Given the description of an element on the screen output the (x, y) to click on. 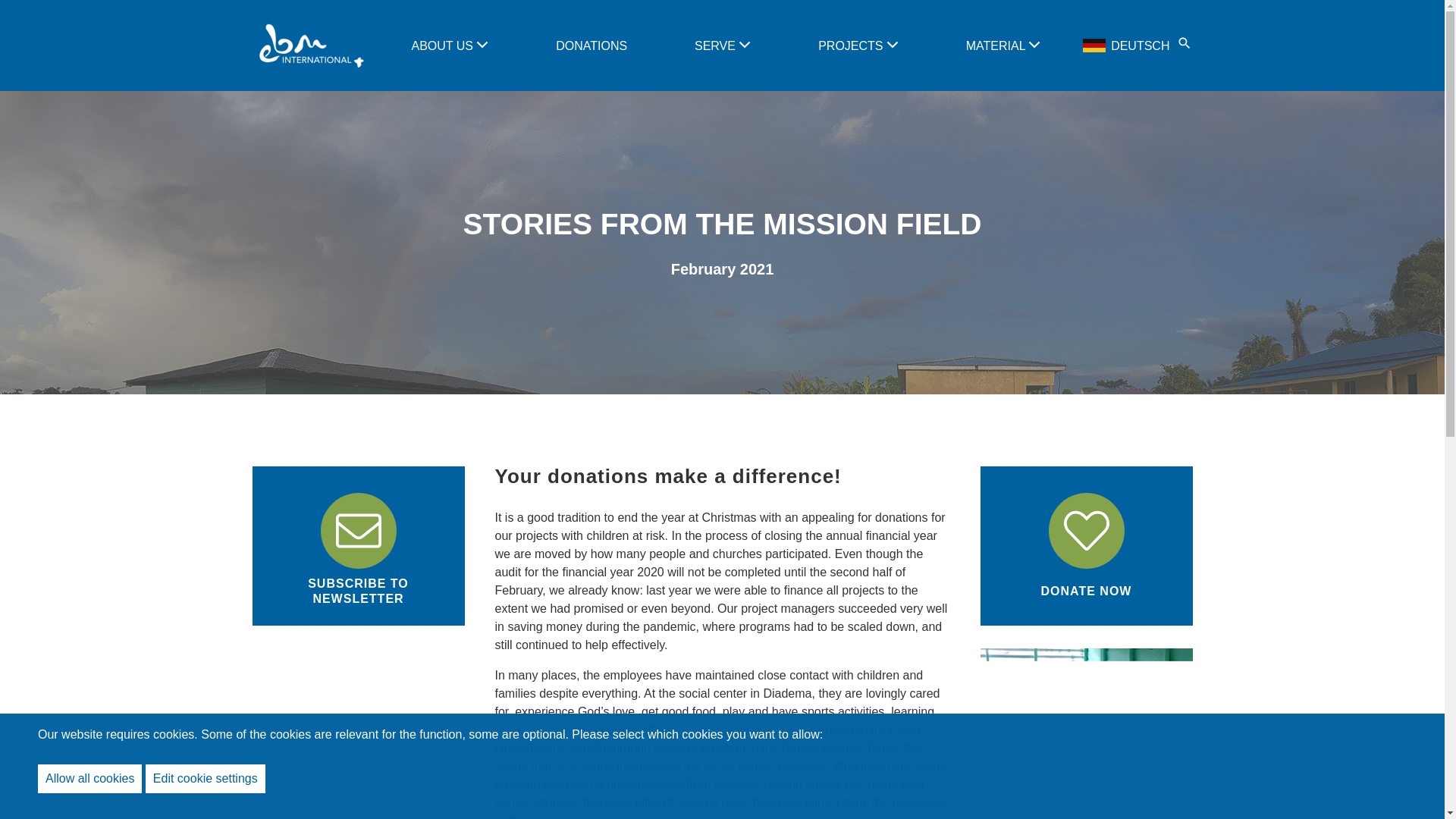
DONATE NOW (1085, 545)
MATERIAL (997, 45)
DEUTSCH (1126, 45)
DONATIONS (591, 45)
SERVE (716, 45)
SUBSCRIBE TO NEWSLETTER (357, 545)
PROJECTS (852, 45)
ABOUT US (443, 45)
Logo ebm international (309, 45)
